Given the description of an element on the screen output the (x, y) to click on. 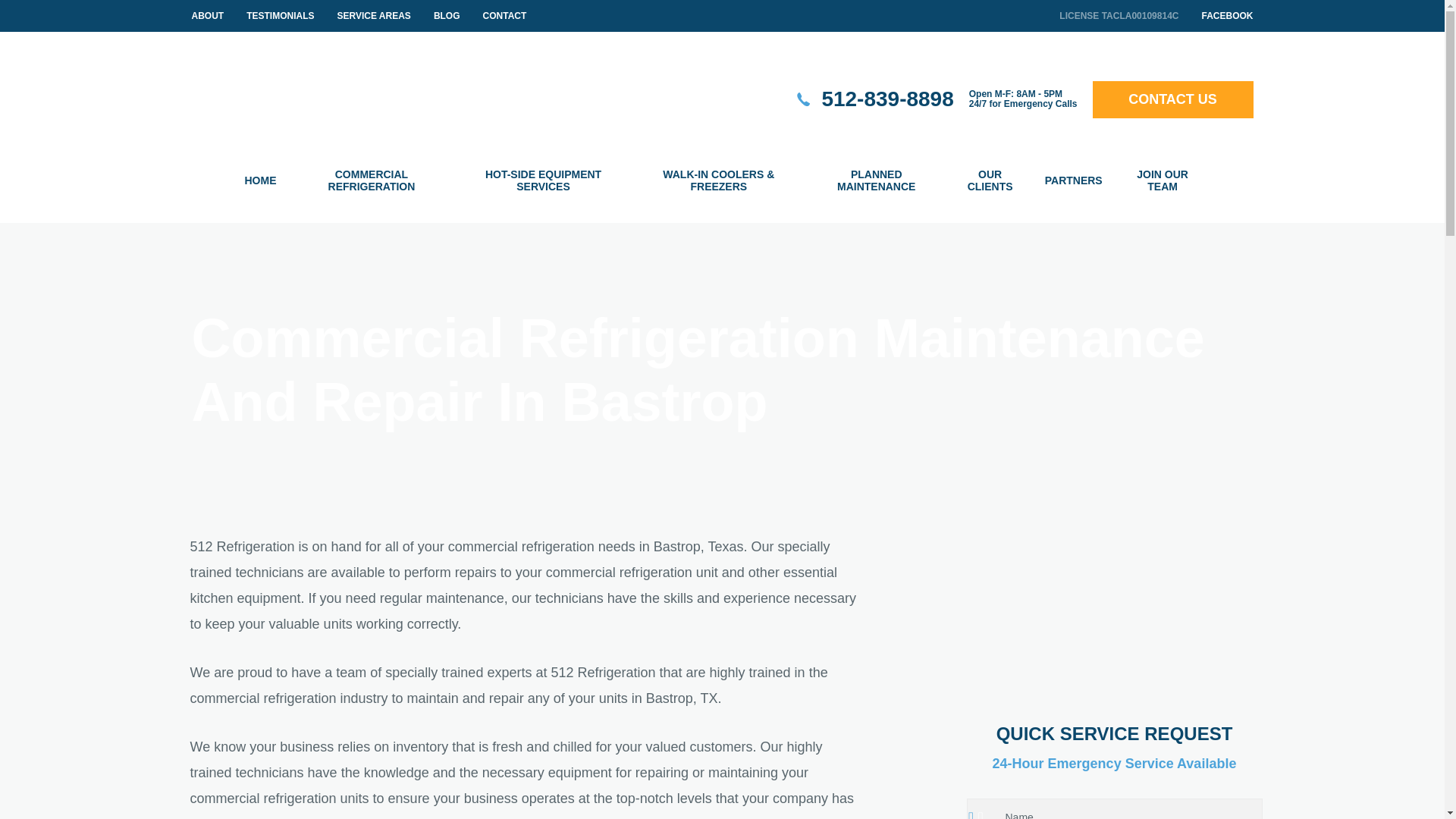
HOT-SIDE EQUIPMENT SERVICES (542, 180)
BLOG (446, 15)
PARTNERS (1073, 180)
FACEBOOK (1226, 15)
CONTACT (505, 15)
COMMERCIAL REFRIGERATION (371, 180)
PLANNED MAINTENANCE (876, 180)
CONTACT US (1172, 98)
JOIN OUR TEAM (1162, 180)
ABOUT (207, 15)
